Given the description of an element on the screen output the (x, y) to click on. 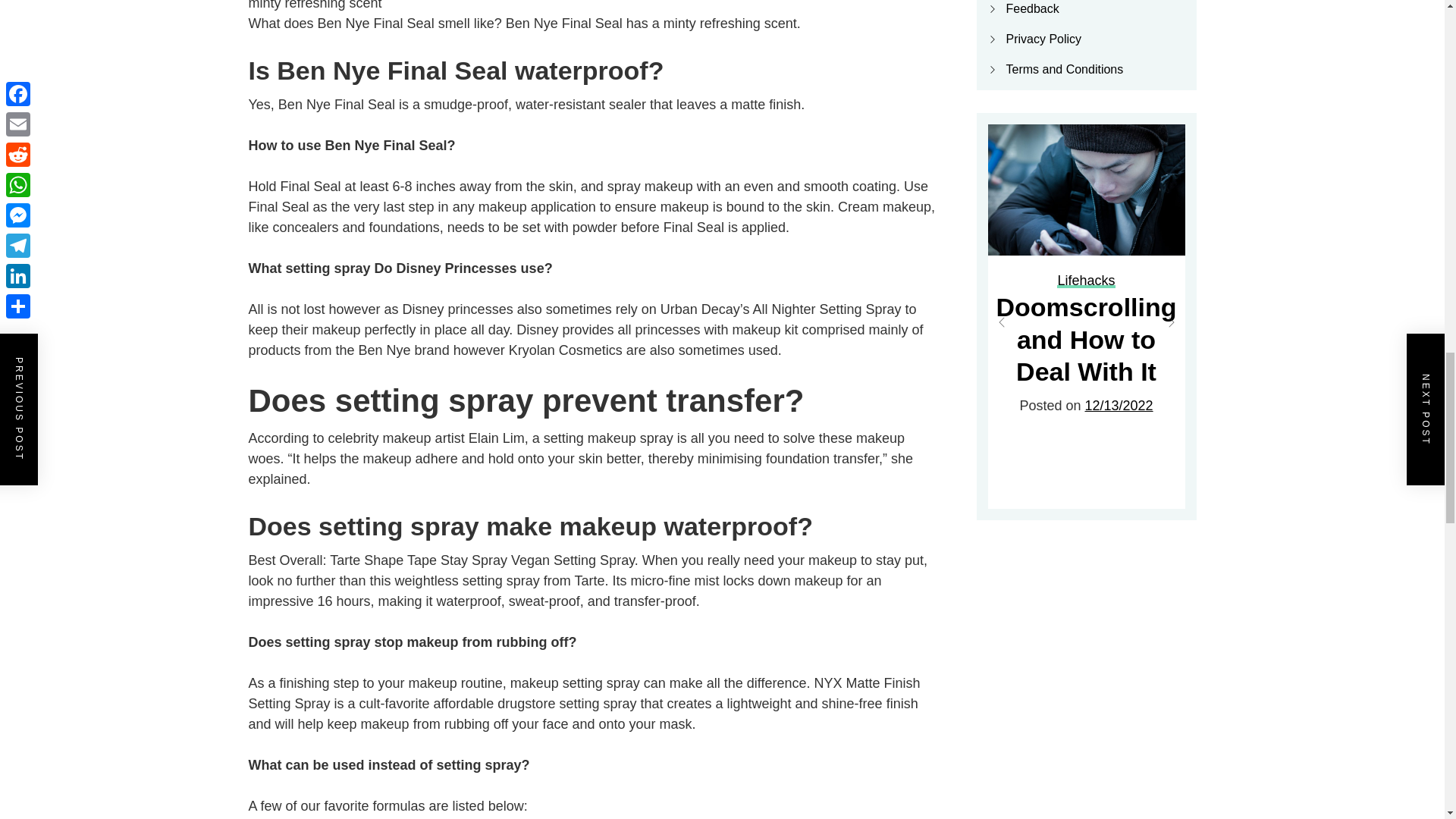
Feedback (1032, 8)
Terms and Conditions (1064, 69)
Privacy Policy (1043, 38)
